Given the description of an element on the screen output the (x, y) to click on. 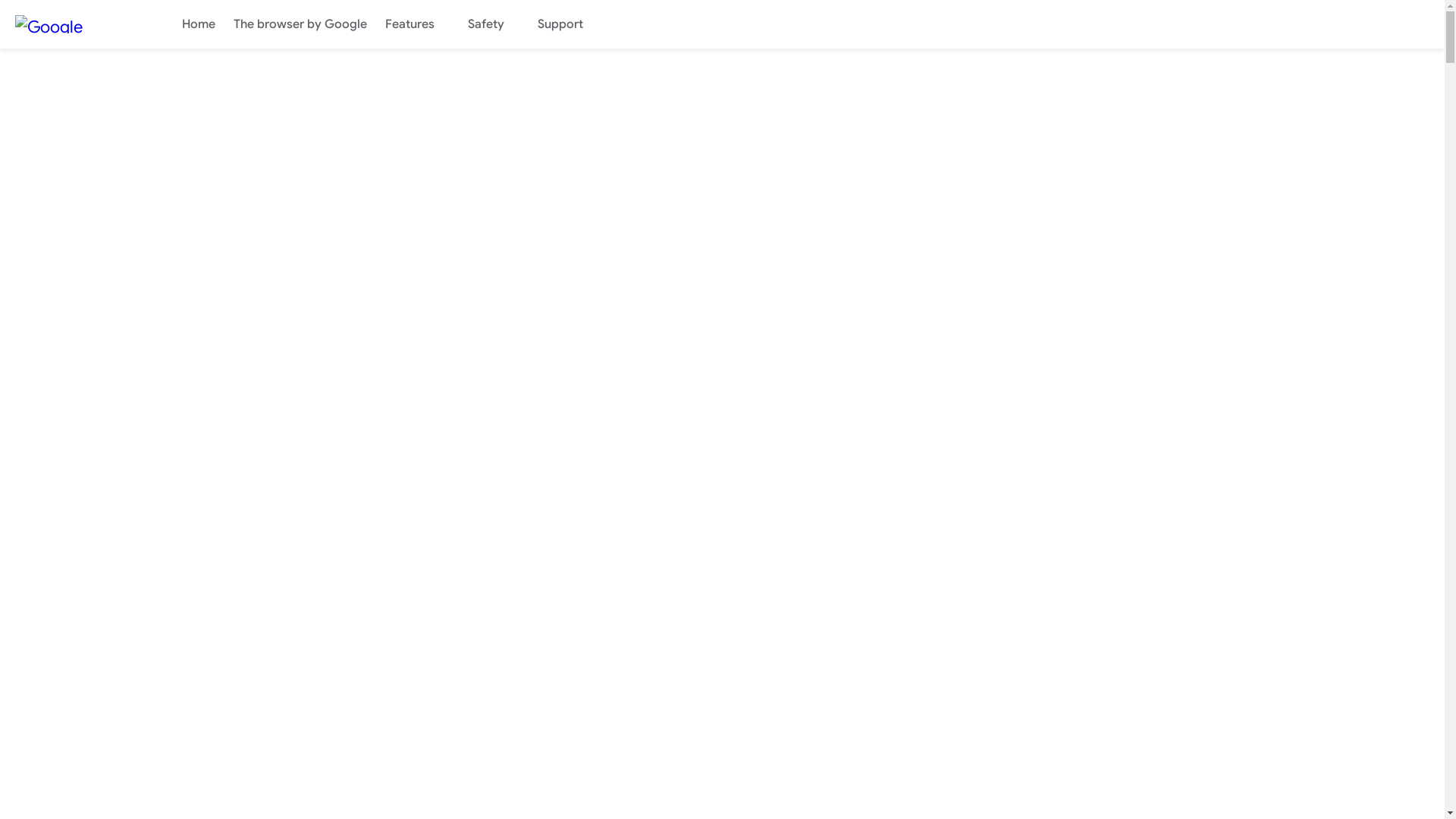
Safety Element type: text (493, 23)
Features Element type: text (417, 23)
Home Element type: text (198, 23)
Google Chrome Element type: hover (75, 24)
Support Element type: text (567, 23)
The browser by Google Element type: text (300, 23)
